Given the description of an element on the screen output the (x, y) to click on. 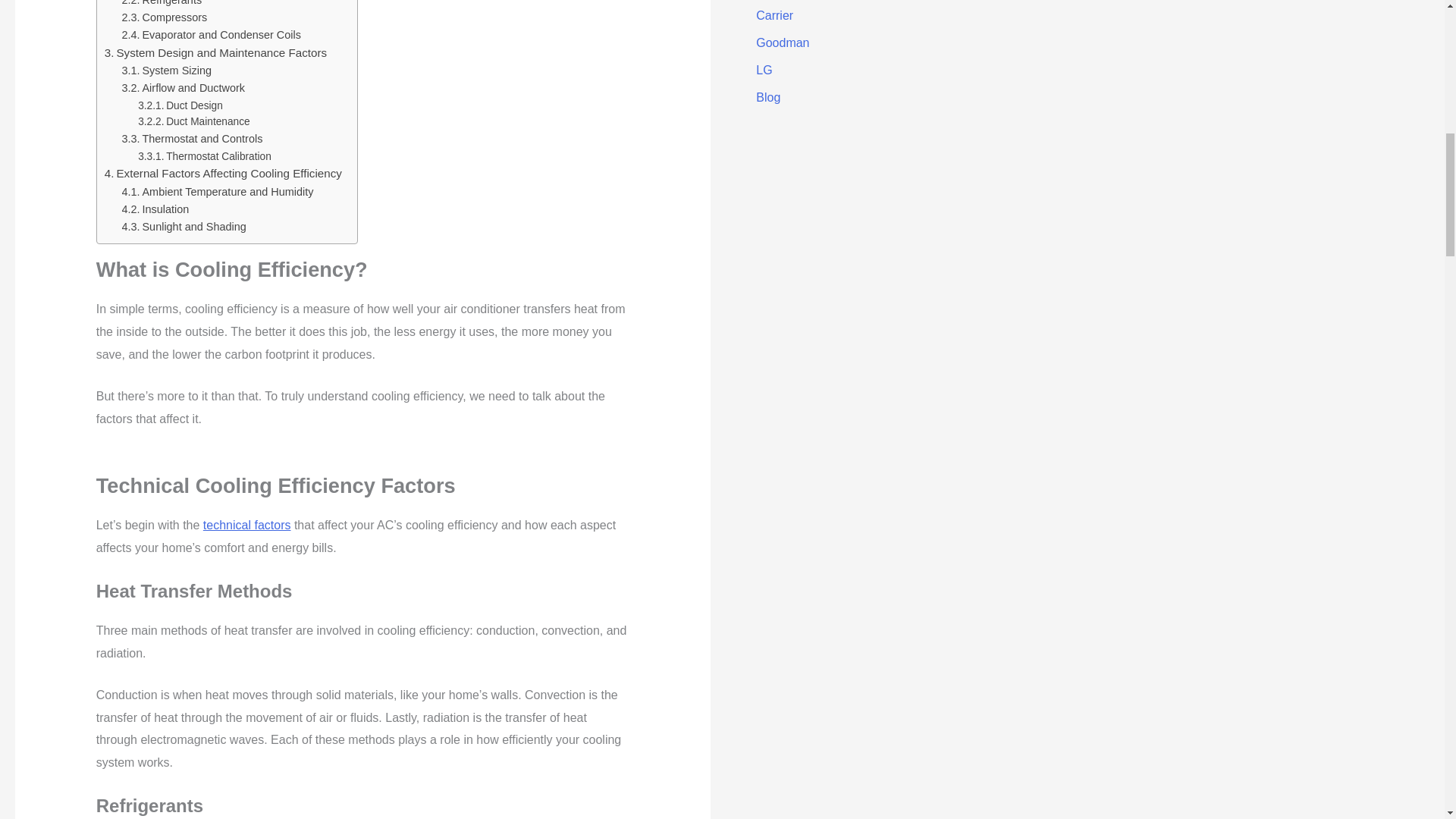
Thermostat and Controls (192, 139)
Evaporator and Condenser Coils (211, 35)
System Sizing (166, 70)
Sunlight and Shading (184, 226)
Duct Design (180, 105)
Airflow and Ductwork (184, 88)
External Factors Affecting Cooling Efficiency (223, 173)
Thermostat and Controls (192, 139)
Ambient Temperature and Humidity (218, 191)
Airflow and Ductwork (184, 88)
